Given the description of an element on the screen output the (x, y) to click on. 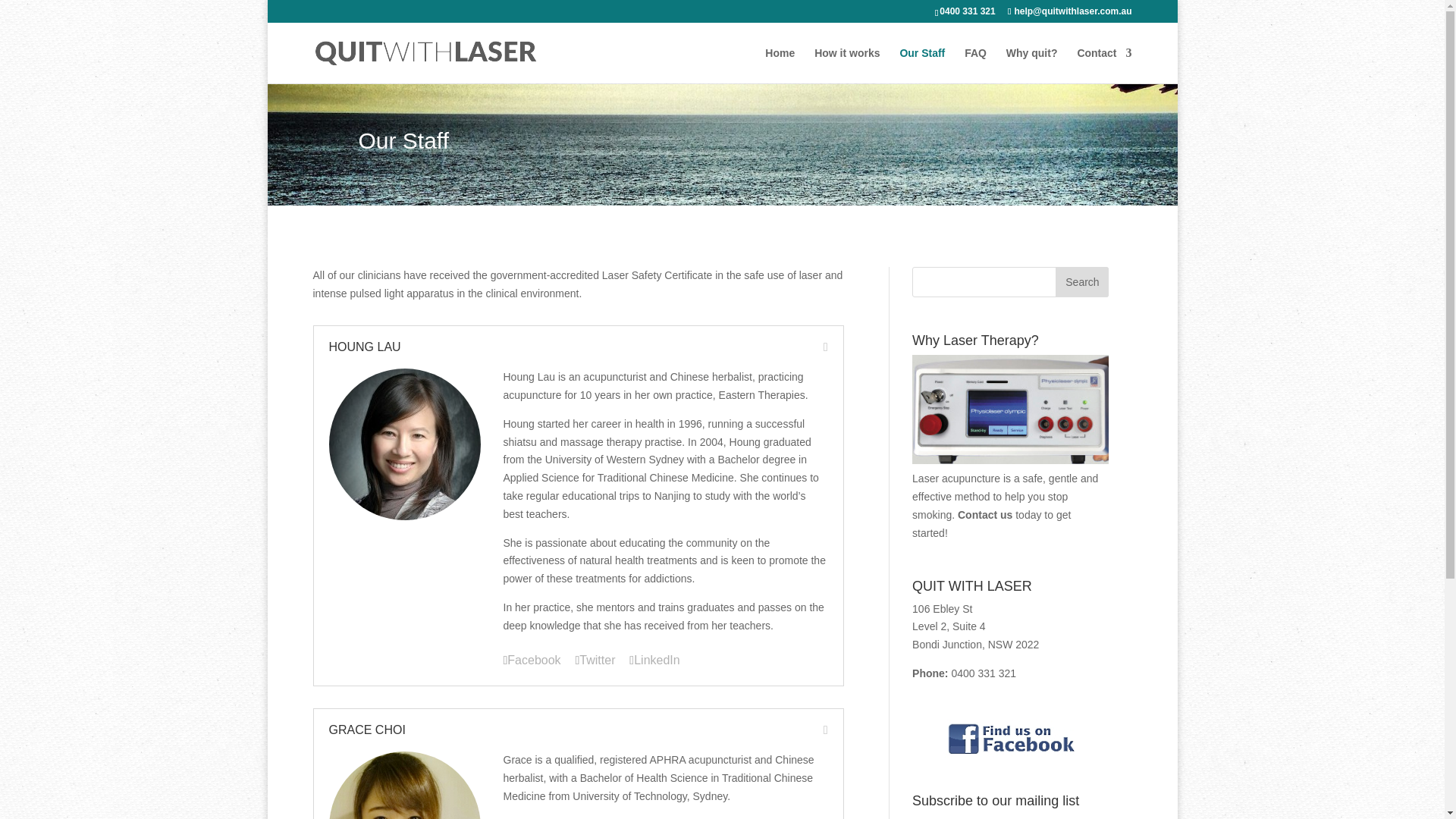
LinkedIn (653, 660)
Search (1081, 281)
Why quit? (1032, 65)
Facebook (531, 660)
Contact us (984, 514)
Our Staff (921, 65)
How it works (846, 65)
Twitter (594, 660)
Contact (1104, 65)
Search (1081, 281)
